Given the description of an element on the screen output the (x, y) to click on. 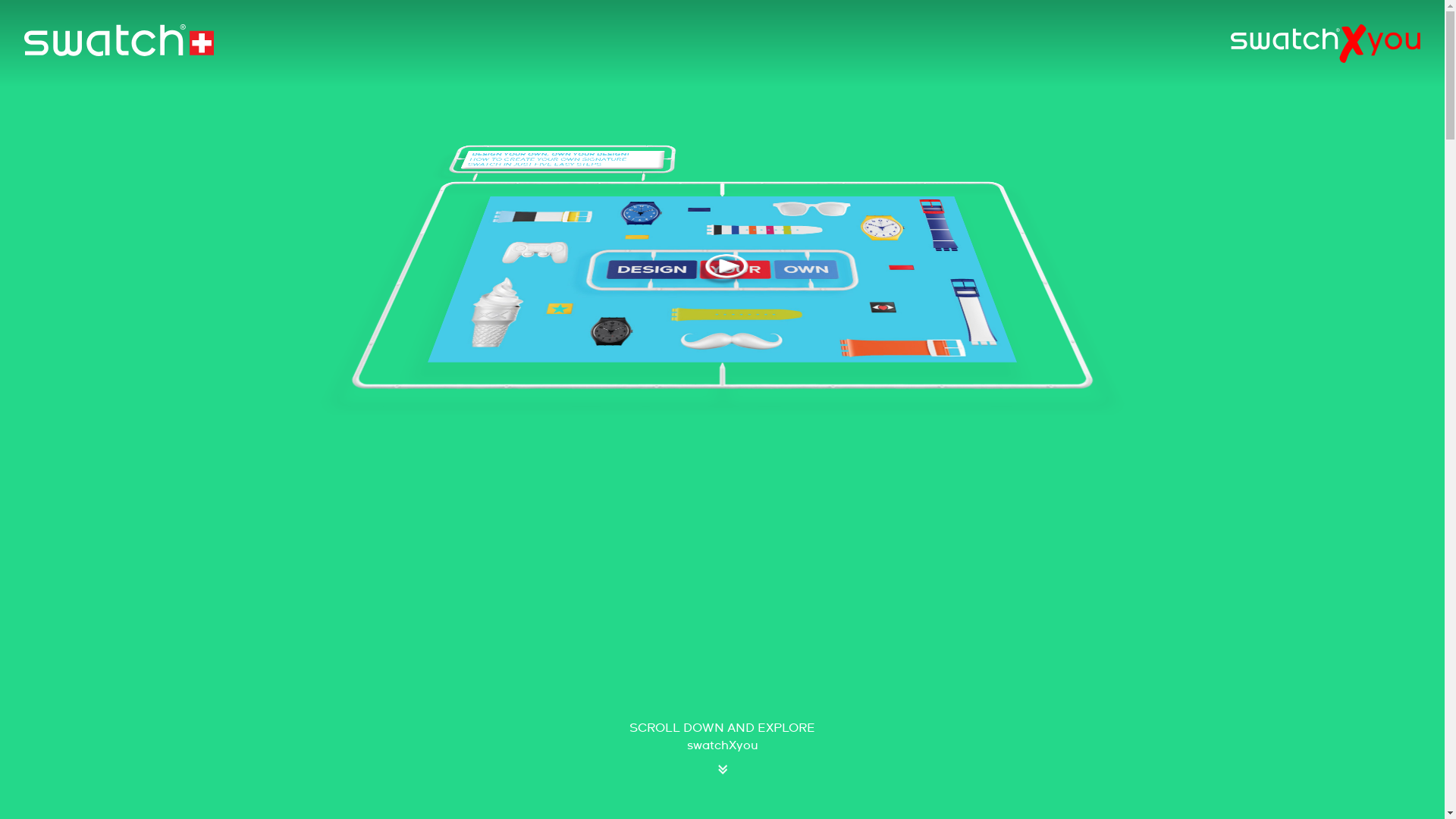
Play Element type: text (756, 381)
